Given the description of an element on the screen output the (x, y) to click on. 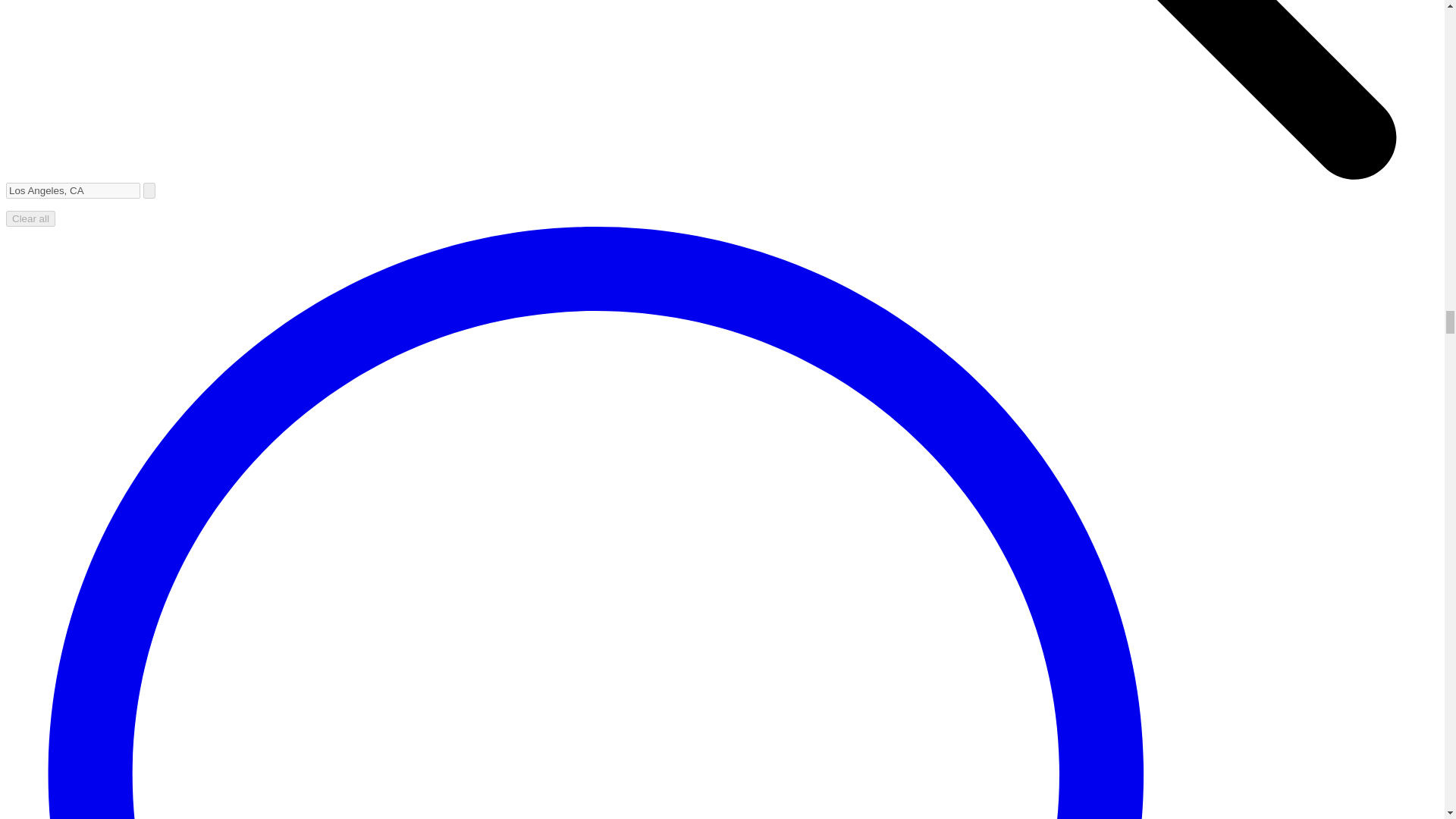
Los Angeles, CA (72, 190)
